Given the description of an element on the screen output the (x, y) to click on. 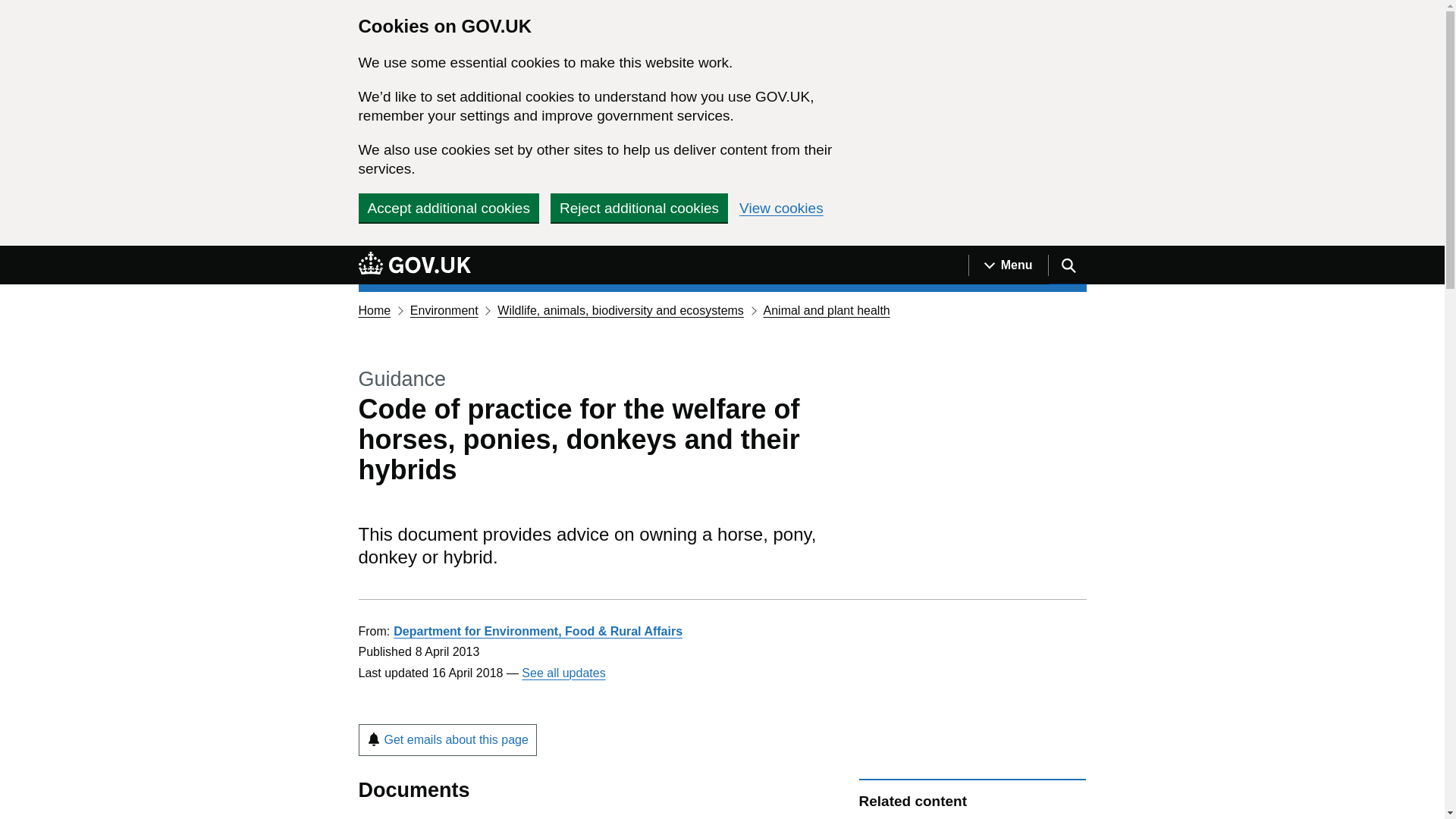
Get emails about this page (446, 739)
View cookies (781, 207)
Home (374, 309)
Skip to main content (11, 254)
Wildlife, animals, biodiversity and ecosystems (620, 309)
Menu (1008, 265)
GOV.UK (414, 264)
Reject additional cookies (639, 207)
Search GOV.UK (1067, 265)
Environment (444, 309)
See all updates (563, 672)
GOV.UK (414, 262)
Animal and plant health (825, 309)
Accept additional cookies (448, 207)
